Given the description of an element on the screen output the (x, y) to click on. 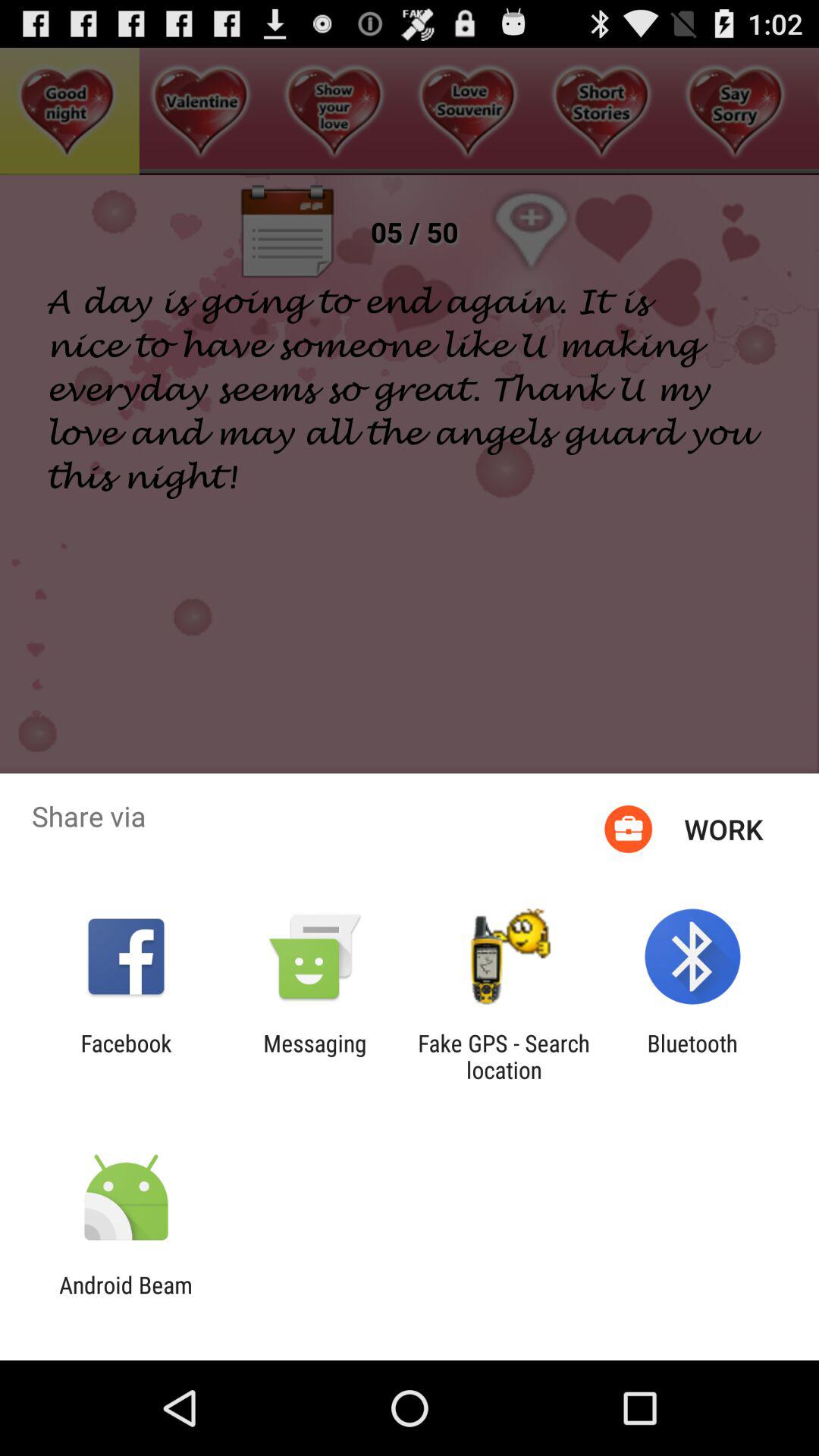
swipe to the messaging (314, 1056)
